Given the description of an element on the screen output the (x, y) to click on. 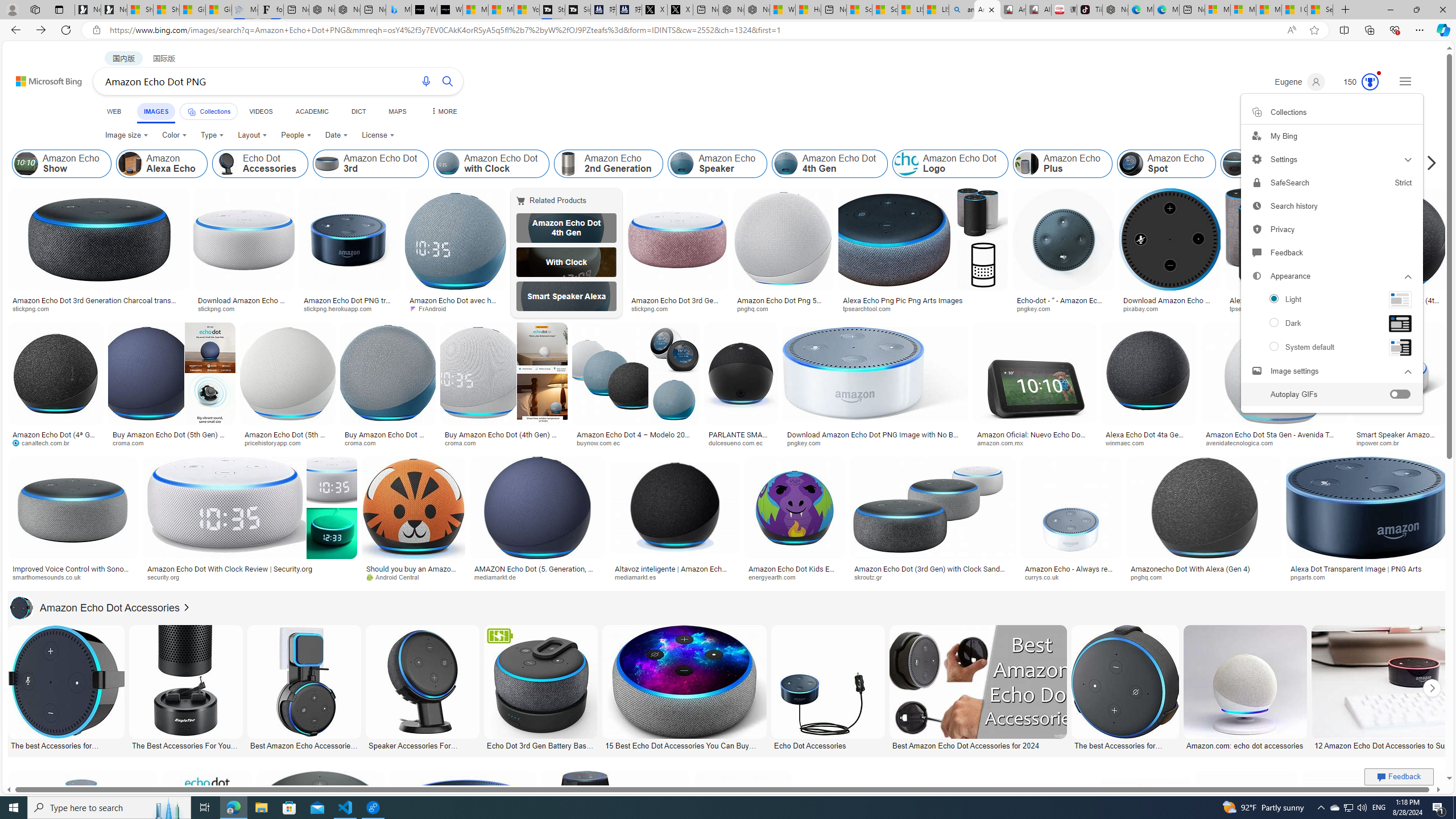
Light (1331, 299)
skroutz.gr (871, 576)
Amazon Alexa Echo (129, 163)
Smart Speaker Alexa Echo Dot (565, 296)
Alexa Echo Png Pic Png Arts Images (923, 299)
Amazon Echo Dot 4th Gen (565, 227)
I Gained 20 Pounds of Muscle in 30 Days! | Watch (1293, 9)
License (377, 135)
